Given the description of an element on the screen output the (x, y) to click on. 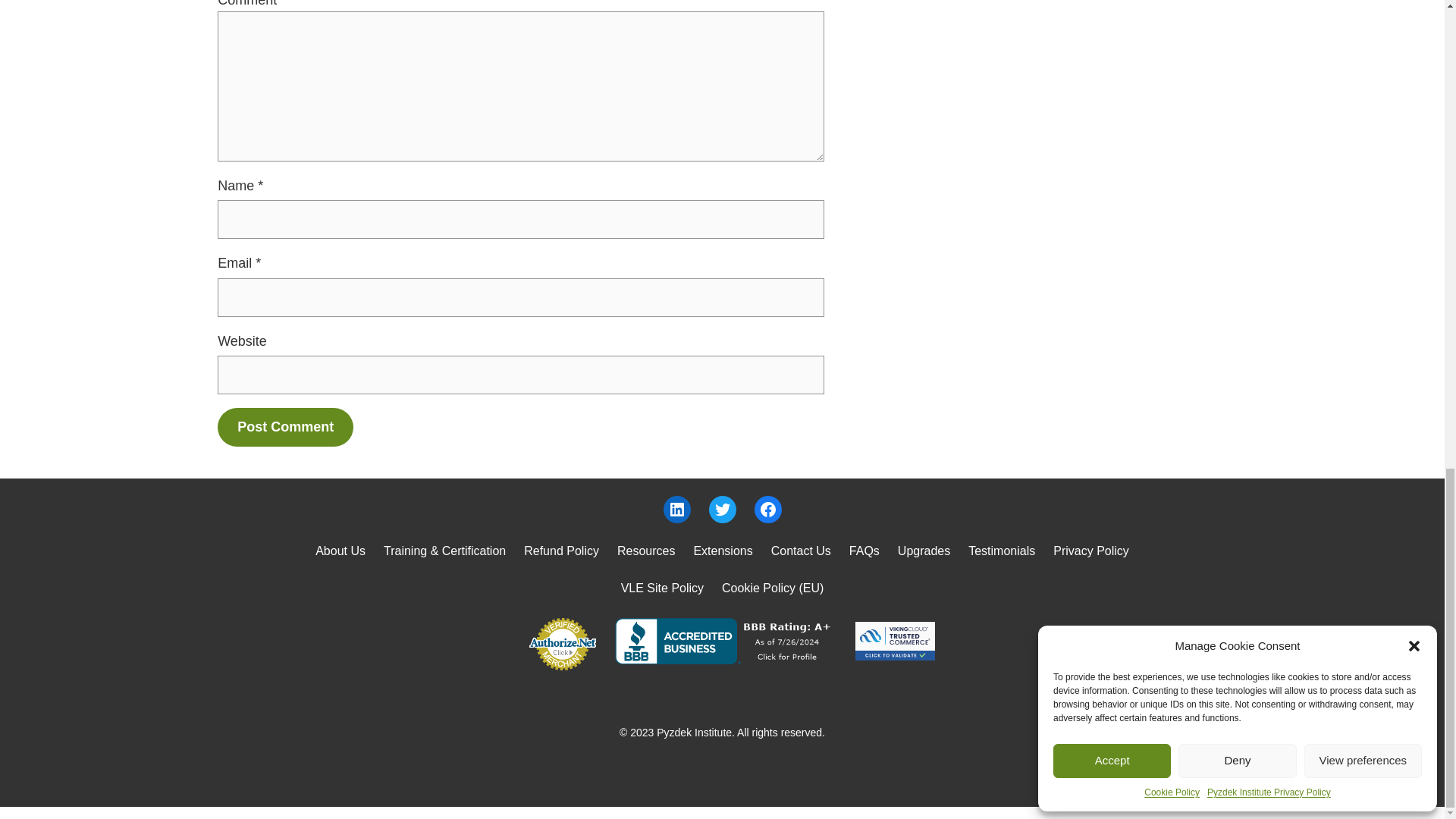
Post Comment (284, 426)
Post Comment (284, 426)
